Given the description of an element on the screen output the (x, y) to click on. 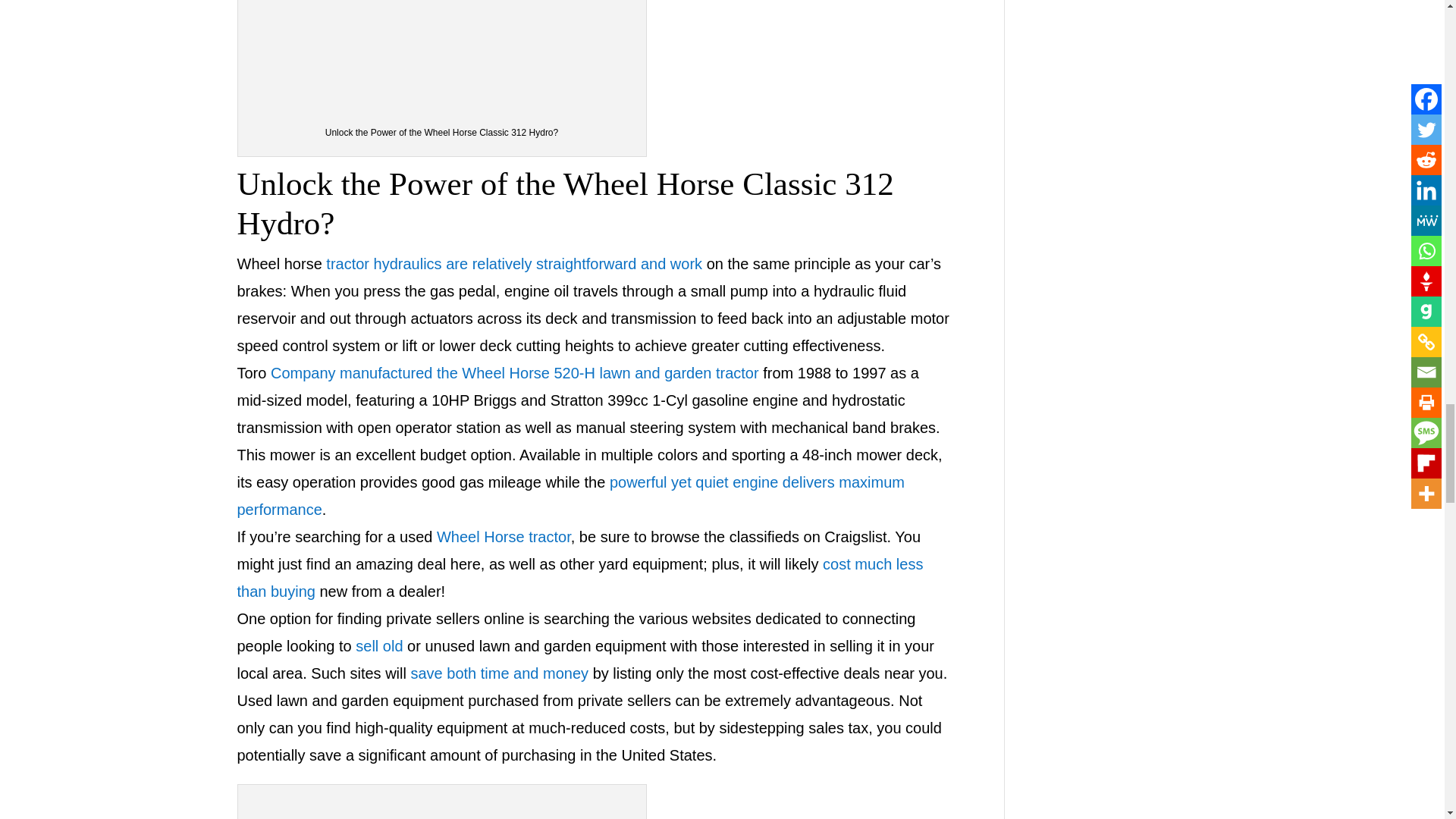
sell old (379, 646)
save both time and money (499, 673)
Unlock the Power of the Wheel Horse Classic 312 Hydro? (442, 55)
cost much less than buying (579, 577)
powerful yet quiet engine delivers maximum performance (569, 495)
tractor hydraulics are relatively straightforward and work (513, 263)
Unlock the Power of the Wheel Horse Classic 312 Hydro? (564, 203)
Wheel Horse tractor (503, 536)
Unlock the Power of the Wheel Horse Classic 312 Hydro? (442, 805)
